Given the description of an element on the screen output the (x, y) to click on. 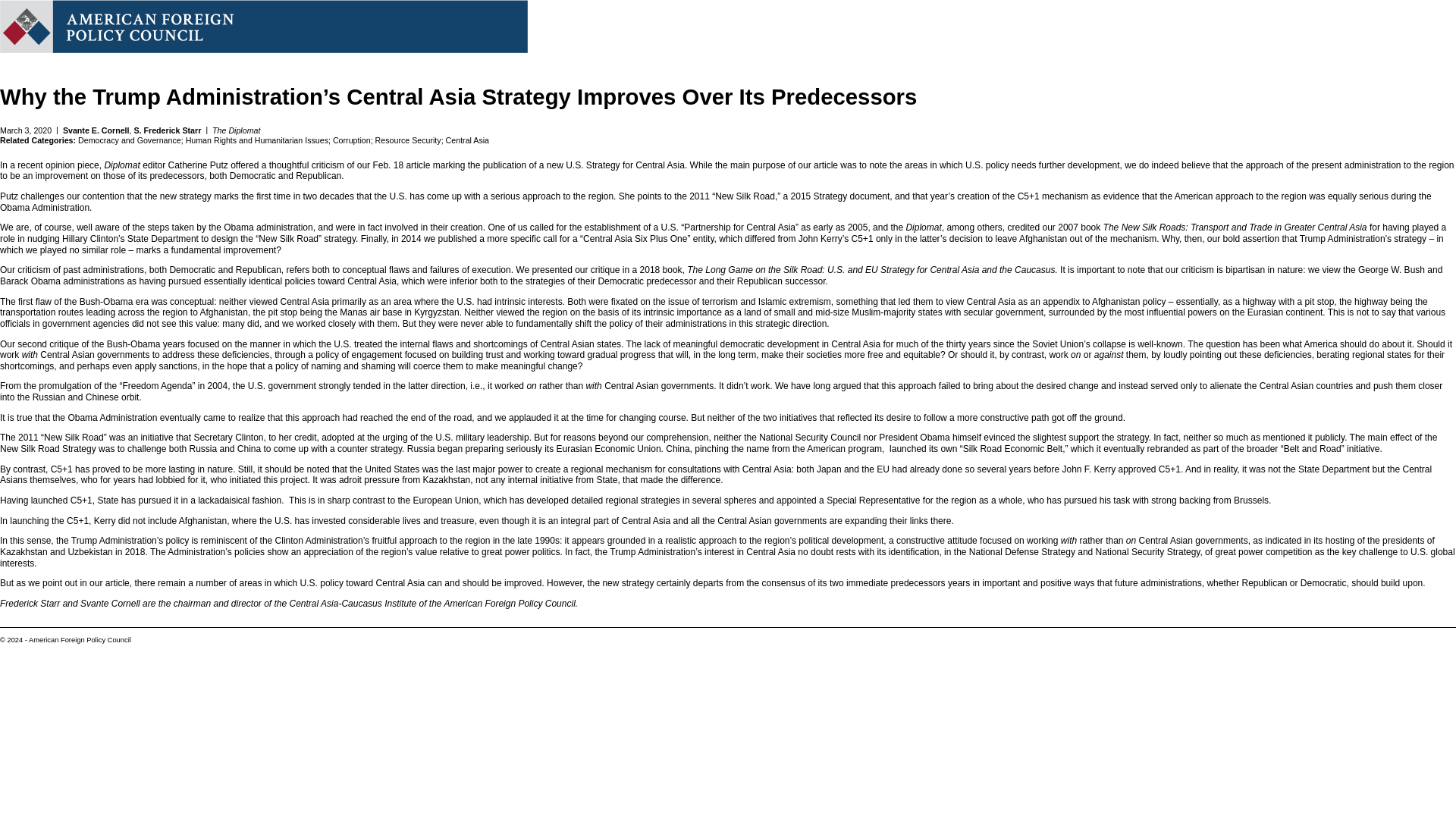
called for the establishment (584, 226)
a recent opinion piece (54, 164)
 in 2014 we published (432, 238)
credited our (1030, 226)
